Given the description of an element on the screen output the (x, y) to click on. 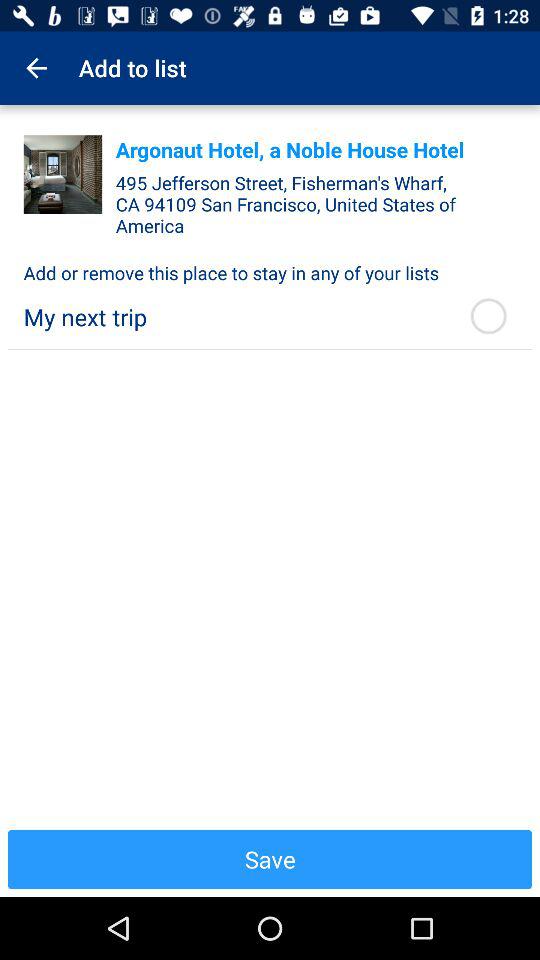
select the item below the add or remove icon (233, 316)
